Given the description of an element on the screen output the (x, y) to click on. 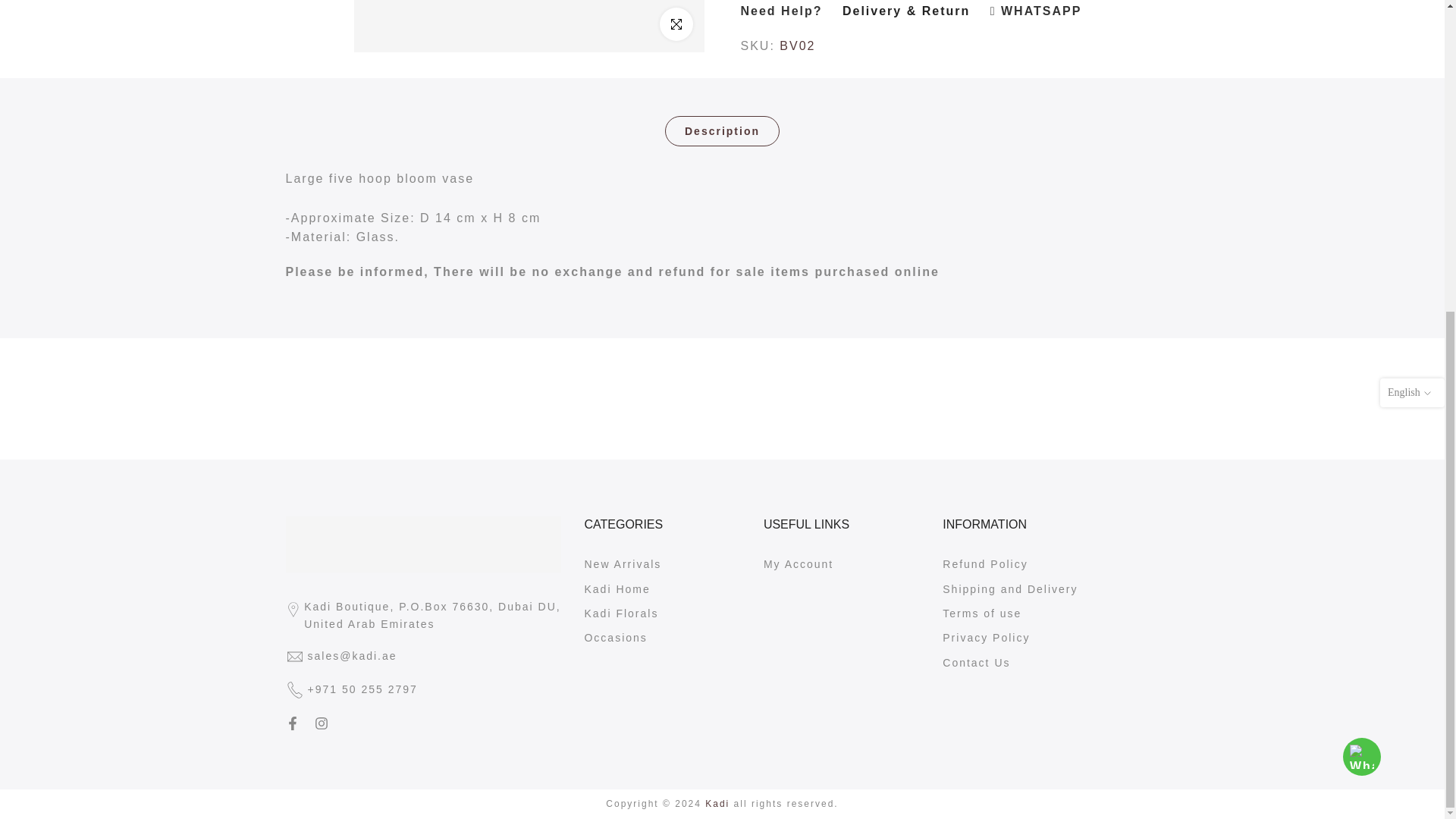
WHATSAPP (1035, 10)
Need Help? (780, 10)
Description (721, 131)
